Given the description of an element on the screen output the (x, y) to click on. 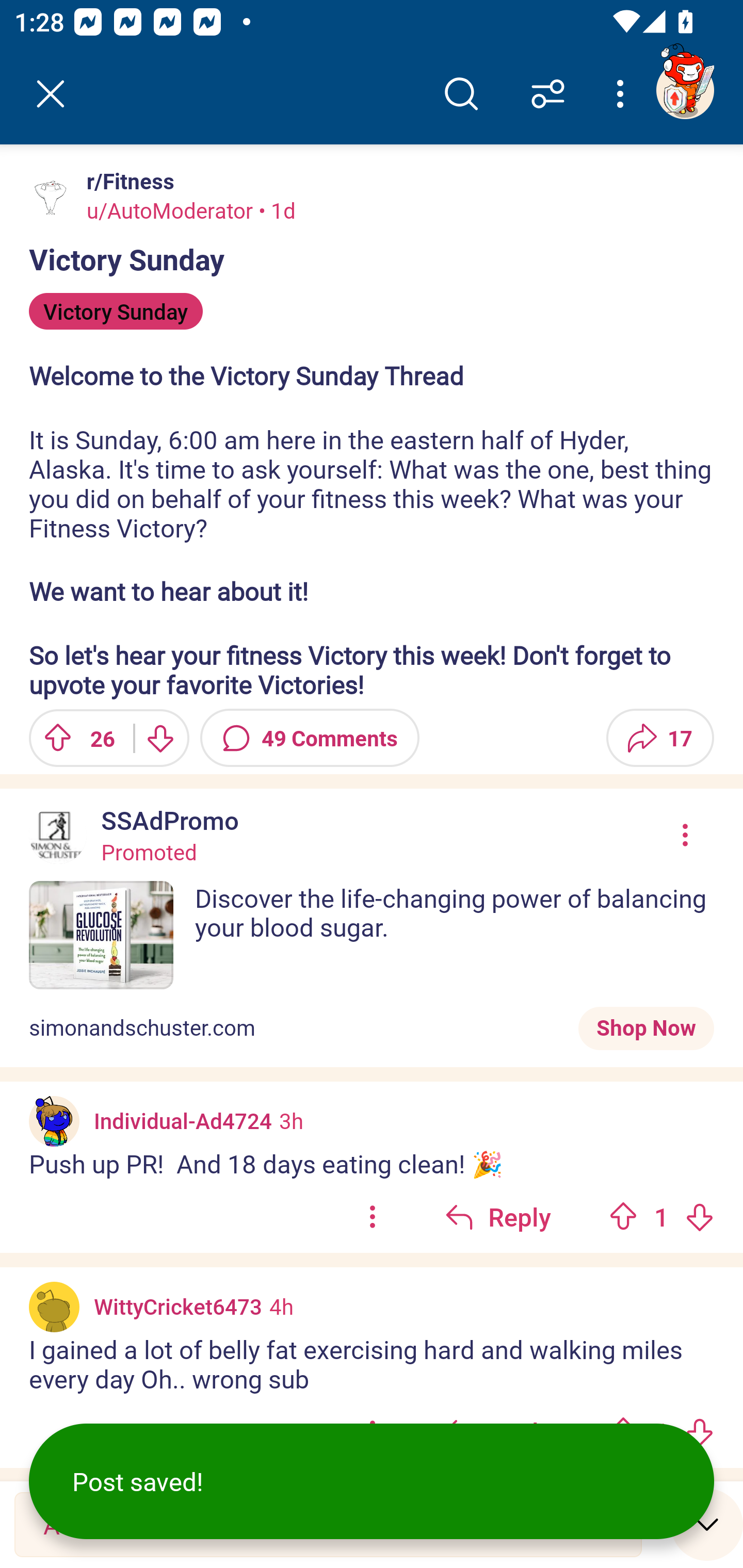
Back (50, 93)
TestAppium002 account (685, 90)
Search comments (460, 93)
Sort comments (547, 93)
More options (623, 93)
r/Fitness (126, 181)
Avatar (50, 196)
u/AutoModerator (169, 210)
Victory Sunday (115, 311)
Upvote 26 Downvote 49 Comments Share 17 (371, 737)
Upvote 26 (73, 737)
Downvote (158, 737)
49 Comments (309, 737)
Share 17 (660, 737)
Custom avatar (53, 1121)
3h (291, 1120)
Push up PR!  And 18 days eating clean! 🎉 (371, 1163)
options (372, 1216)
Reply (498, 1216)
Upvote 1 1 vote Downvote (661, 1216)
Upvote (622, 1216)
Downvote (699, 1216)
Avatar (53, 1306)
4h (280, 1306)
